Given the description of an element on the screen output the (x, y) to click on. 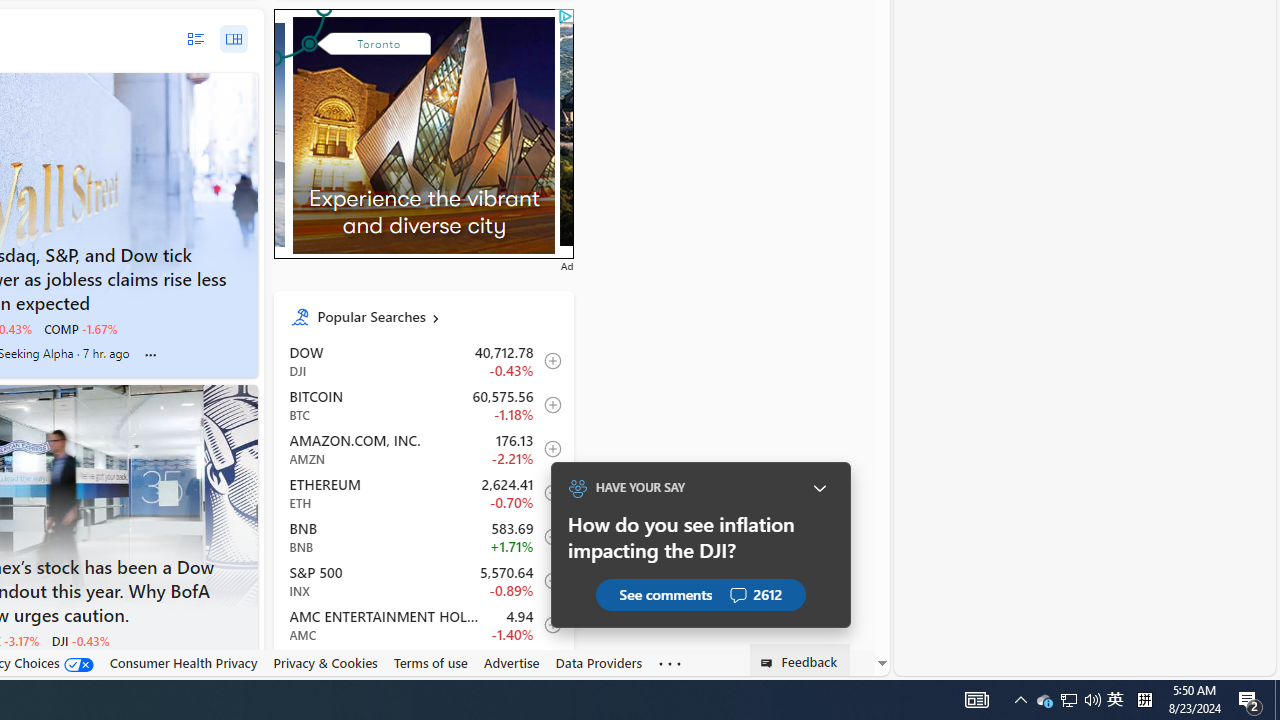
Data Providers (598, 663)
Class: feedback_link_icon-DS-EntryPoint1-1 (770, 663)
COMP -1.67% (80, 328)
INX S&P 500 decrease 5,570.64 -50.21 -0.89% itemundefined (422, 580)
Add to Watchlist (547, 668)
AutomationID: bg2 (423, 130)
DJI -0.43% (80, 640)
AutomationID: gradient4 (708, 134)
AutomationID: bg5 (709, 134)
AutomationID: vapourBg (419, 133)
BNB BNB increase 583.69 +10.00 +1.71% itemundefined (422, 536)
